Given the description of an element on the screen output the (x, y) to click on. 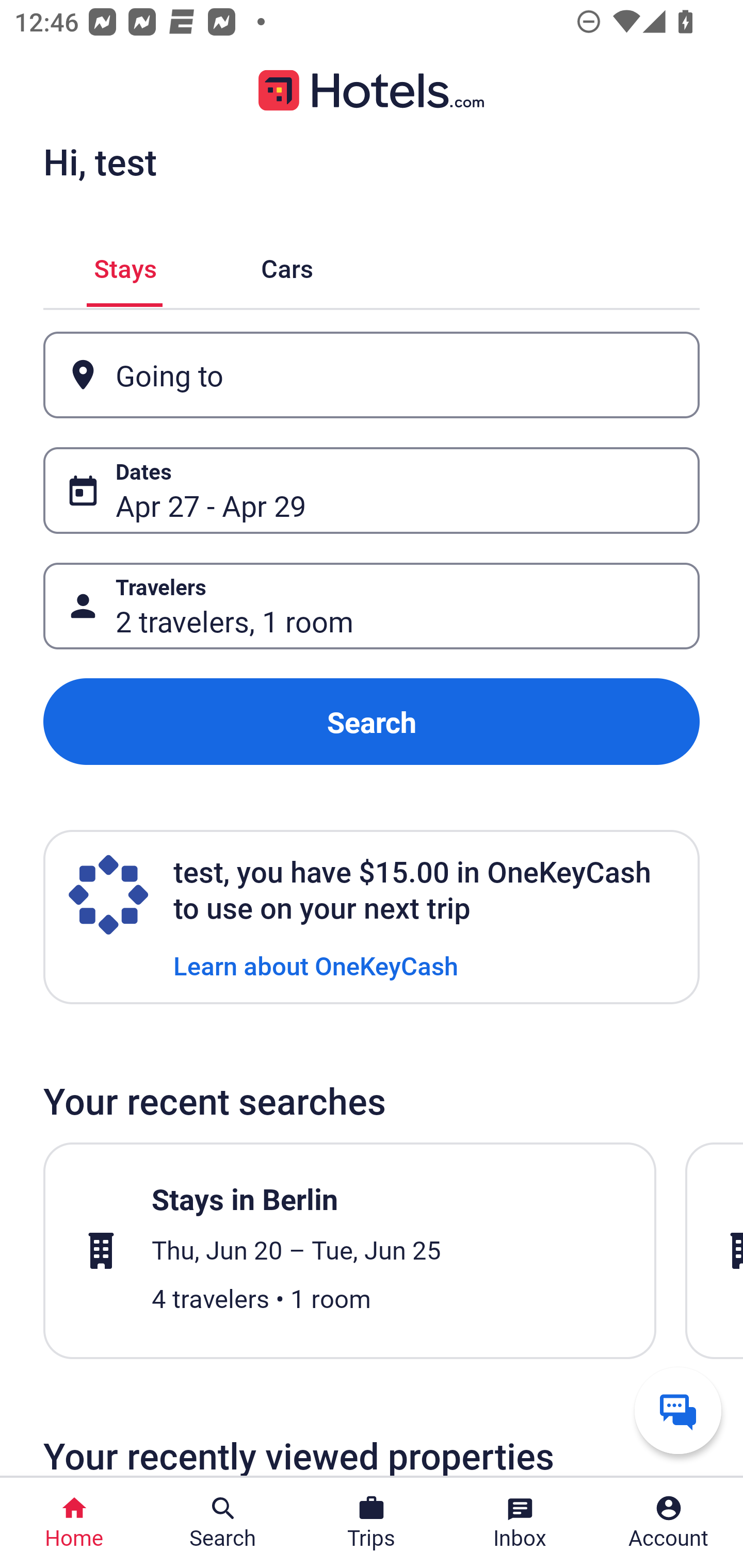
Hi, test (99, 161)
Cars (286, 265)
Going to Button (371, 375)
Dates Button Apr 27 - Apr 29 (371, 489)
Travelers Button 2 travelers, 1 room (371, 605)
Search (371, 721)
Learn about OneKeyCash Learn about OneKeyCash Link (315, 964)
Get help from a virtual agent (677, 1410)
Search Search Button (222, 1522)
Trips Trips Button (371, 1522)
Inbox Inbox Button (519, 1522)
Account Profile. Button (668, 1522)
